Given the description of an element on the screen output the (x, y) to click on. 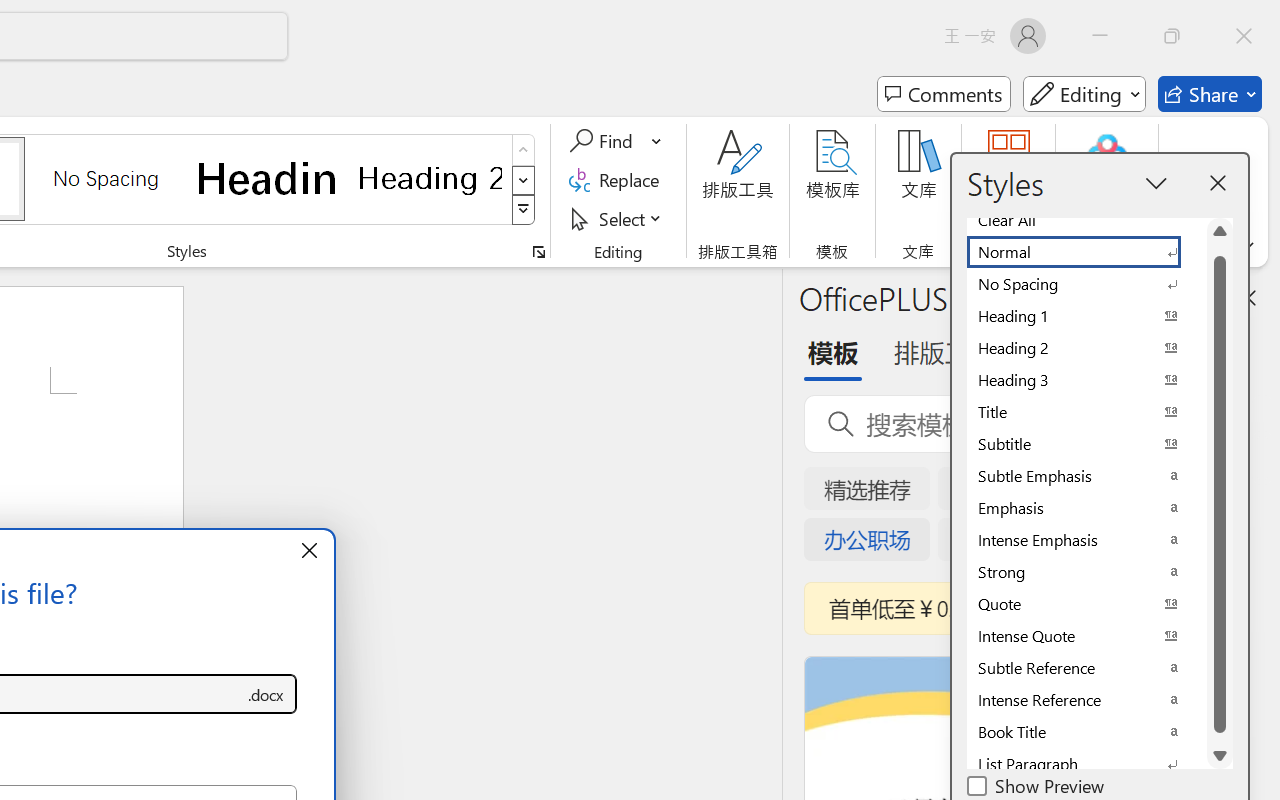
List Paragraph (1086, 764)
Row Down (523, 180)
Normal (1086, 252)
Styles... (538, 252)
